Given the description of an element on the screen output the (x, y) to click on. 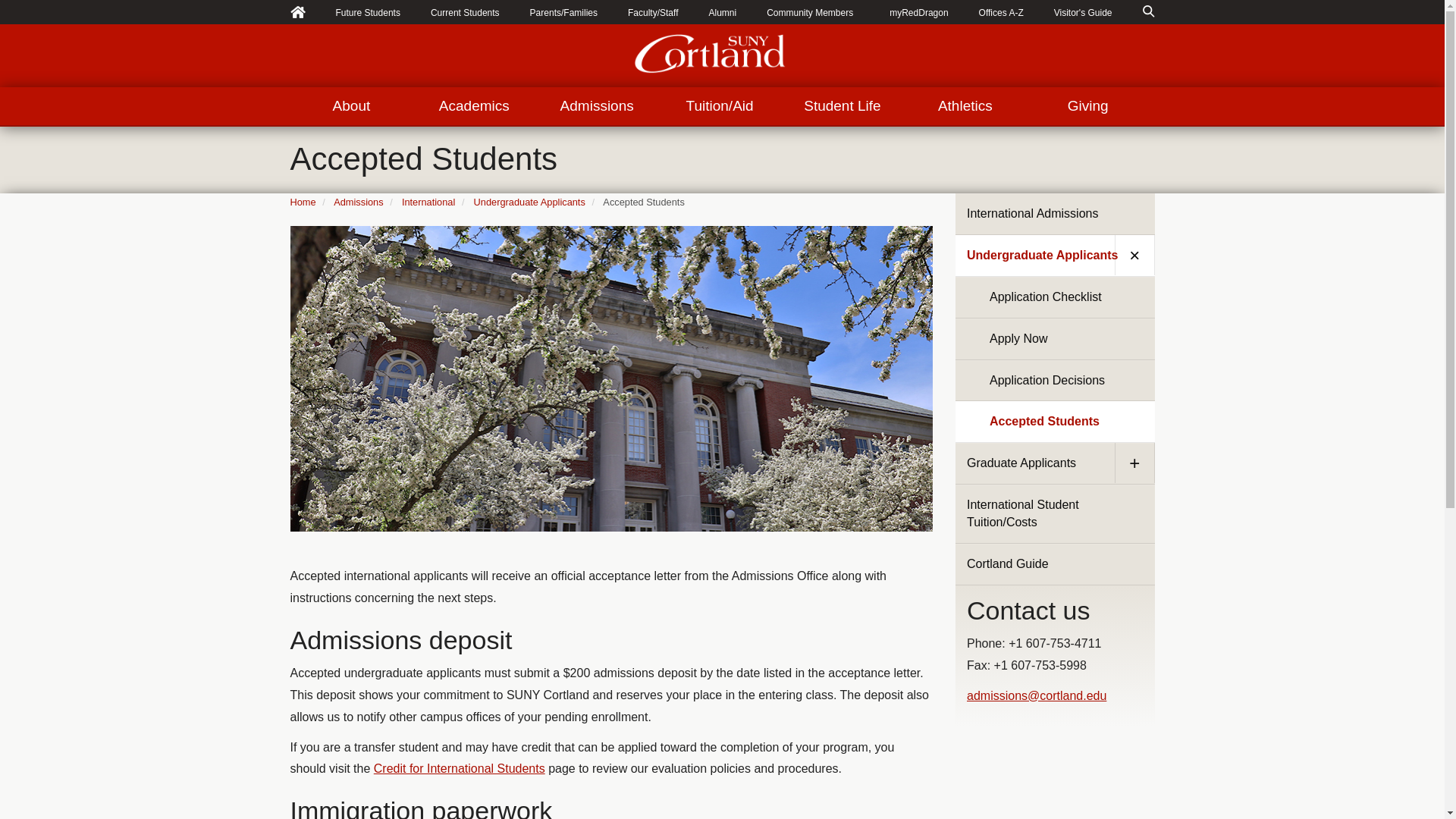
Admissions (596, 105)
About (350, 105)
Academics (473, 105)
